Given the description of an element on the screen output the (x, y) to click on. 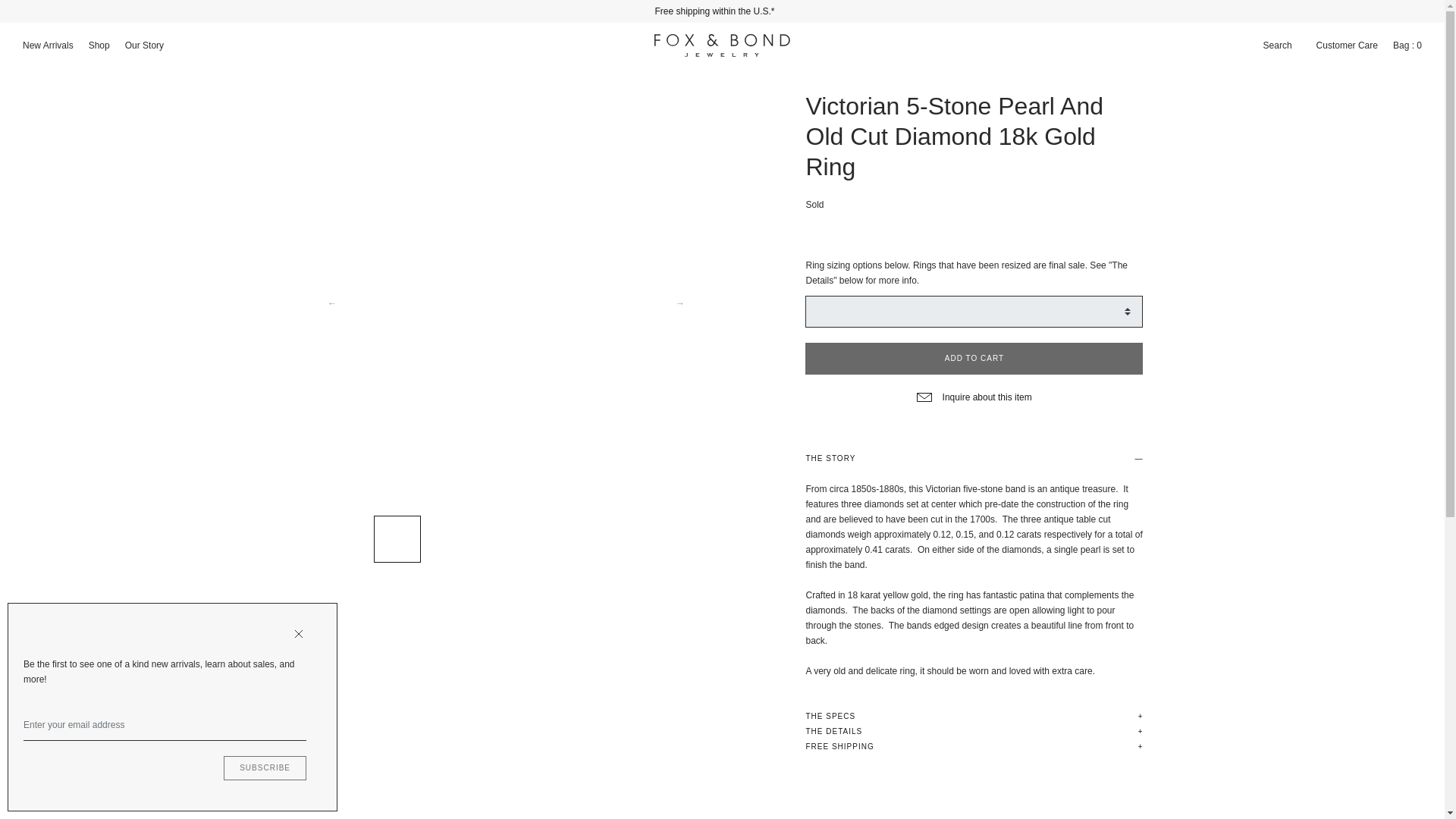
Customer Care (1347, 44)
Our Story (144, 44)
New Arrivals (47, 44)
Bag : 0 (1407, 44)
